Given the description of an element on the screen output the (x, y) to click on. 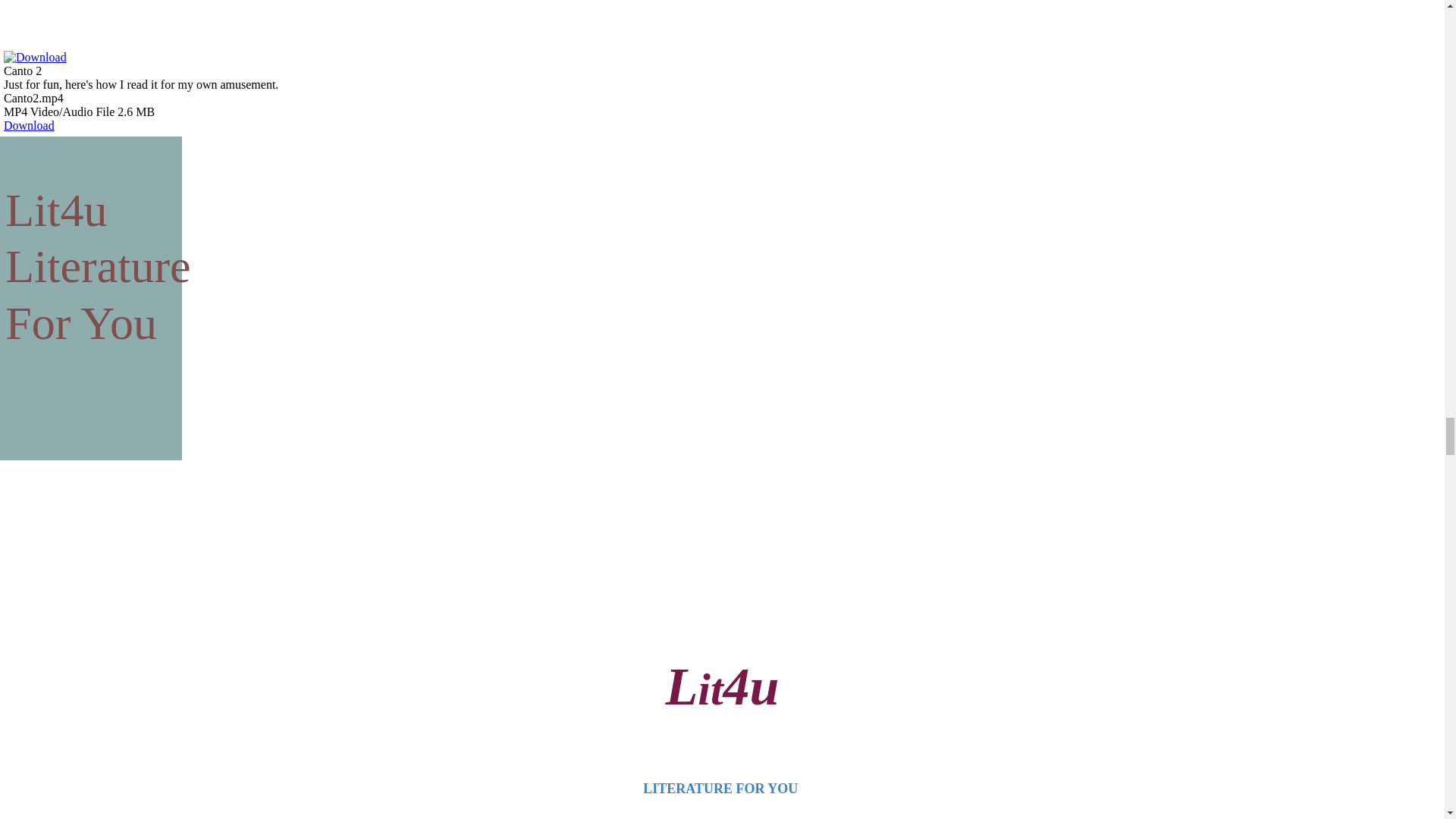
Download (29, 124)
